Given the description of an element on the screen output the (x, y) to click on. 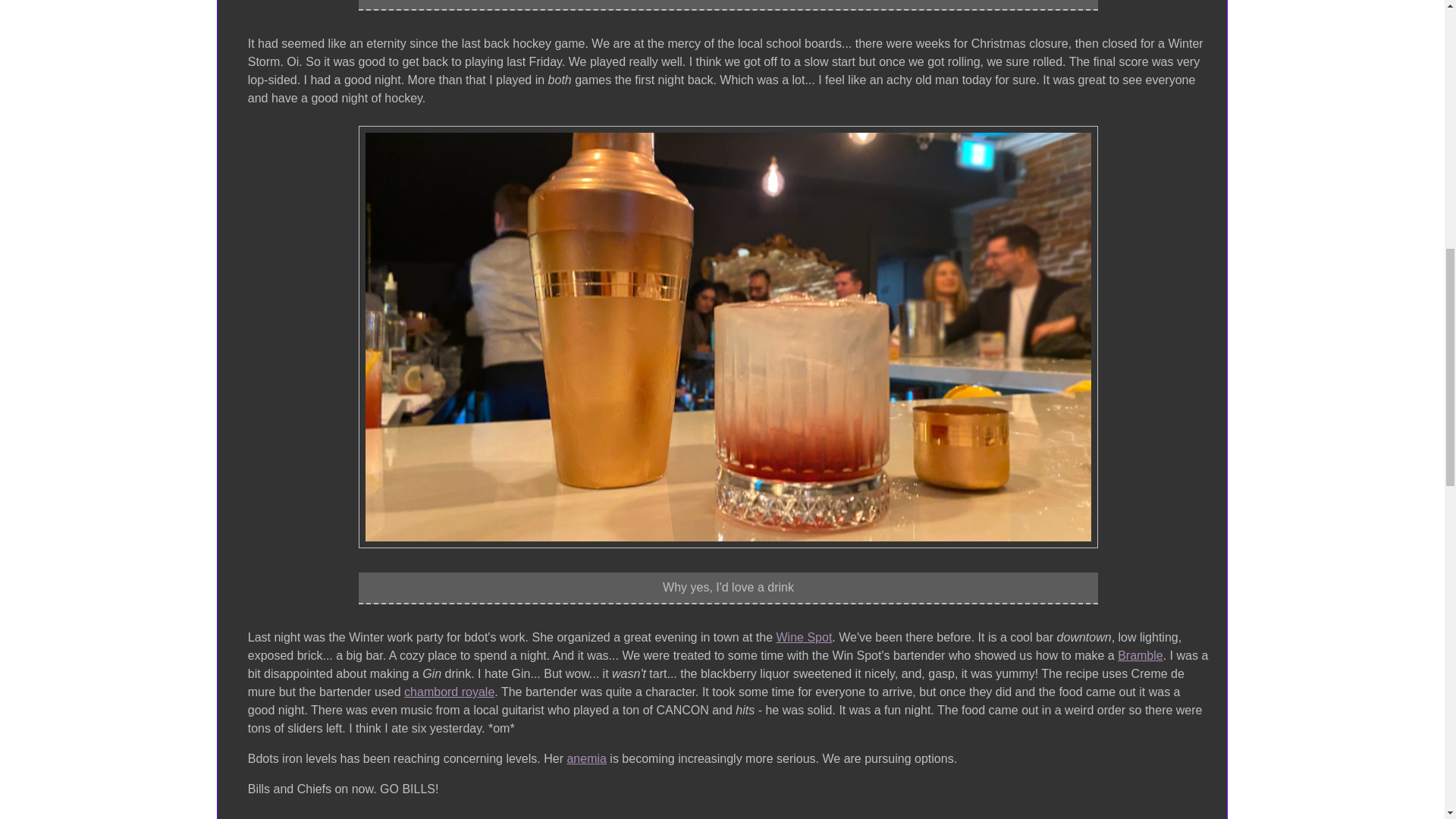
anemia (585, 759)
Wine Spot (804, 637)
chambord royale (449, 692)
Bramble (1140, 656)
